Given the description of an element on the screen output the (x, y) to click on. 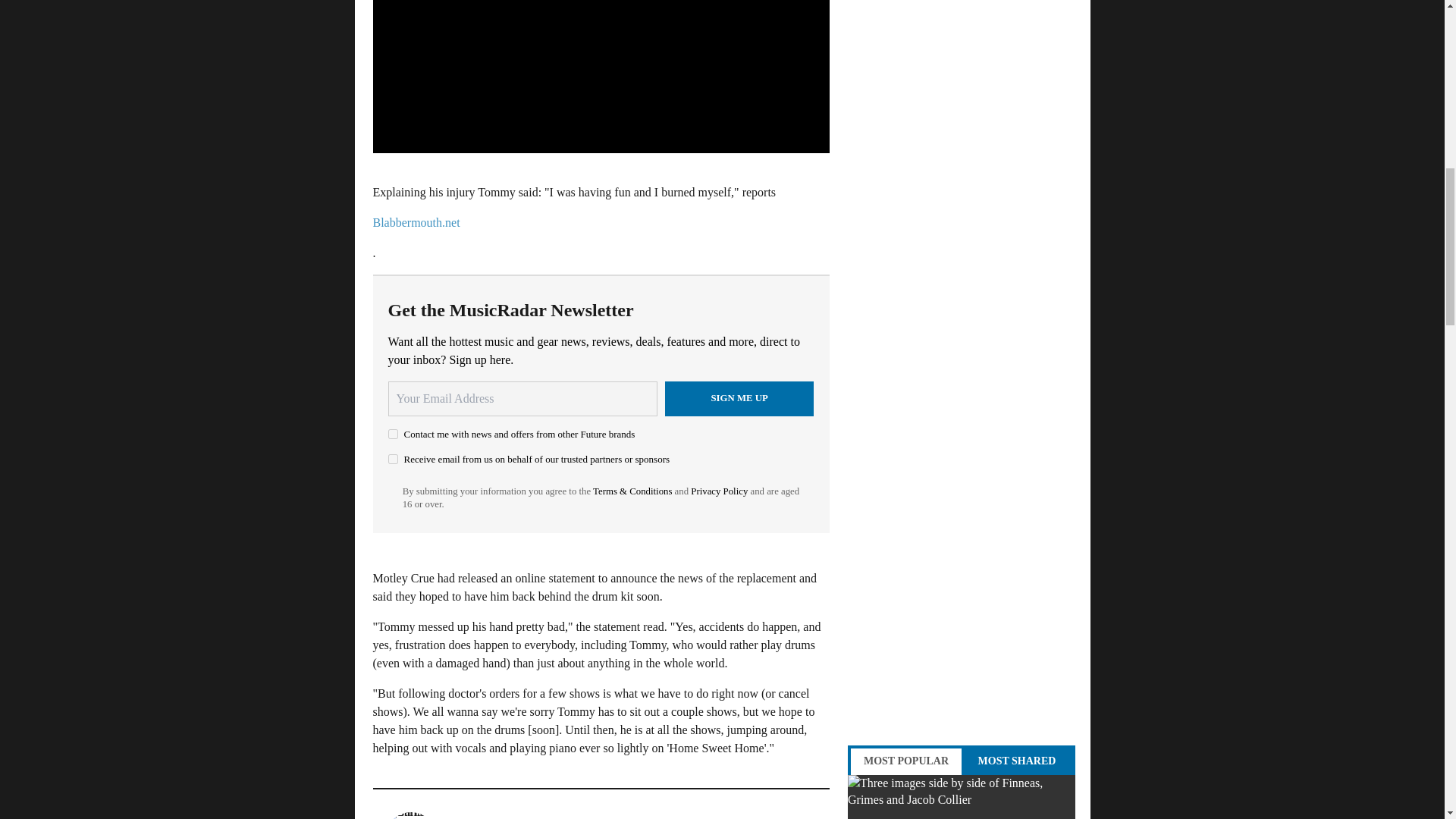
Sign me up (739, 398)
Which audio interfaces do the pros use? (961, 796)
on (392, 433)
on (392, 459)
